Given the description of an element on the screen output the (x, y) to click on. 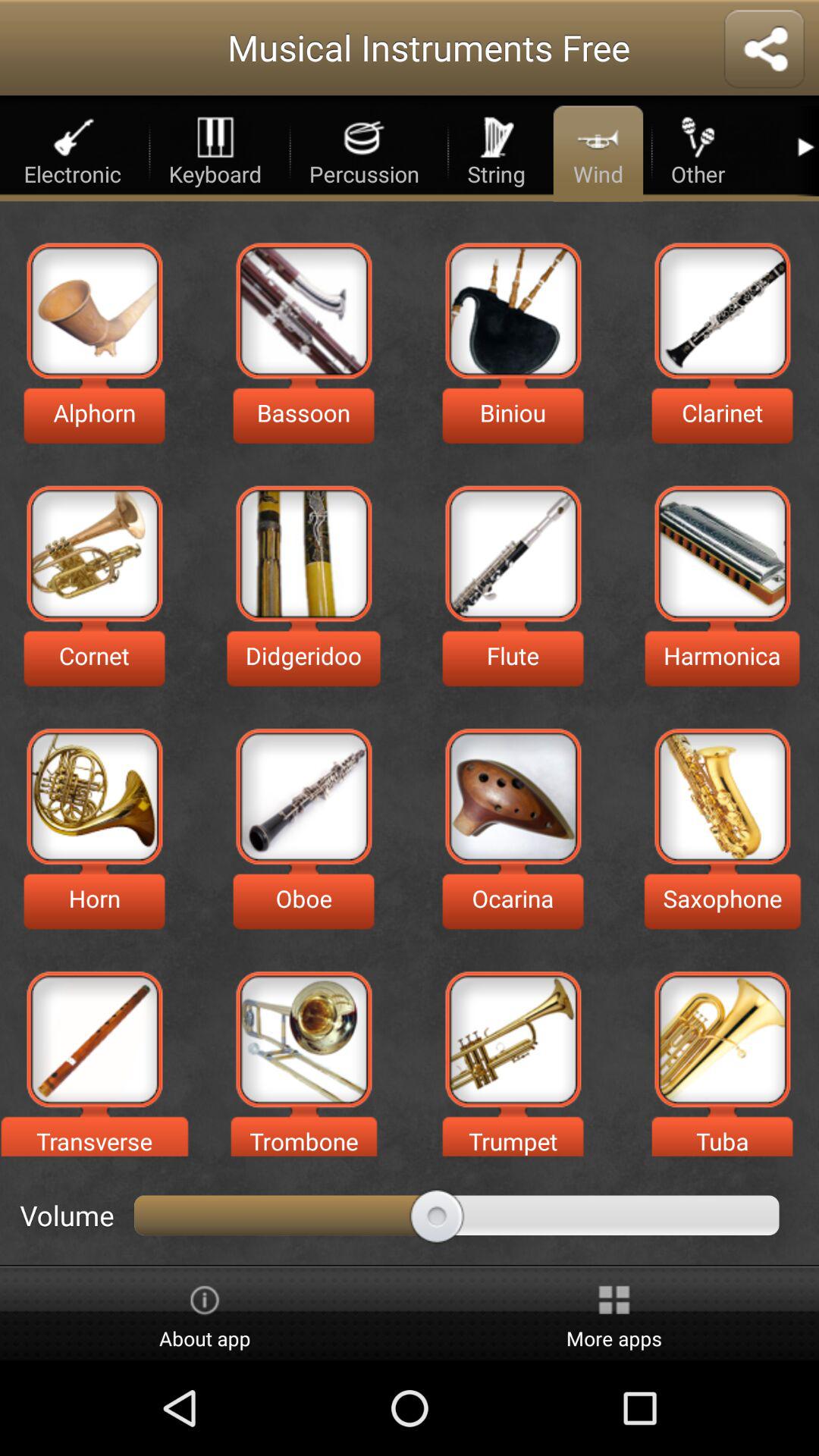
musical icone (94, 553)
